Given the description of an element on the screen output the (x, y) to click on. 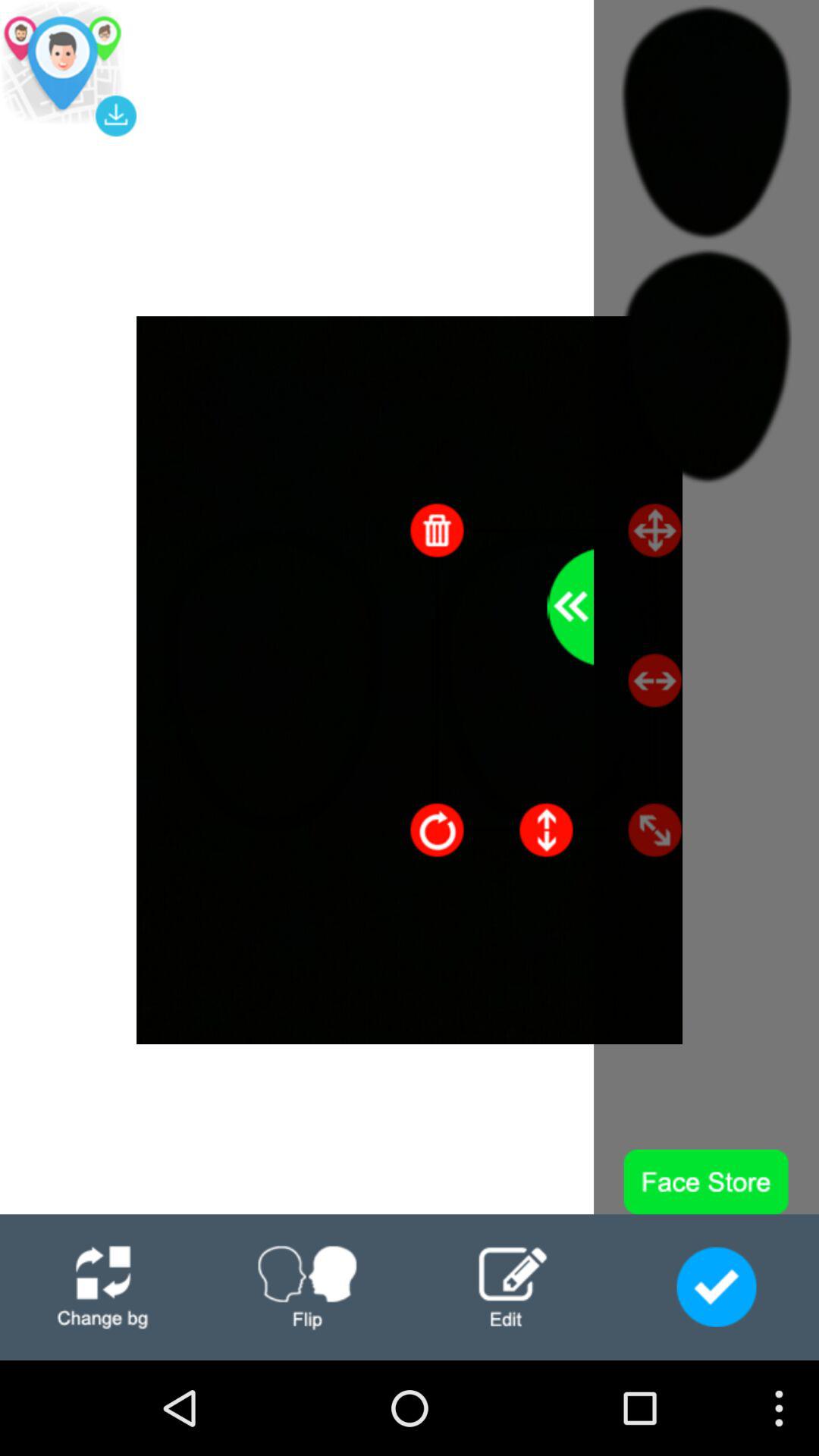
searching page (68, 68)
